Given the description of an element on the screen output the (x, y) to click on. 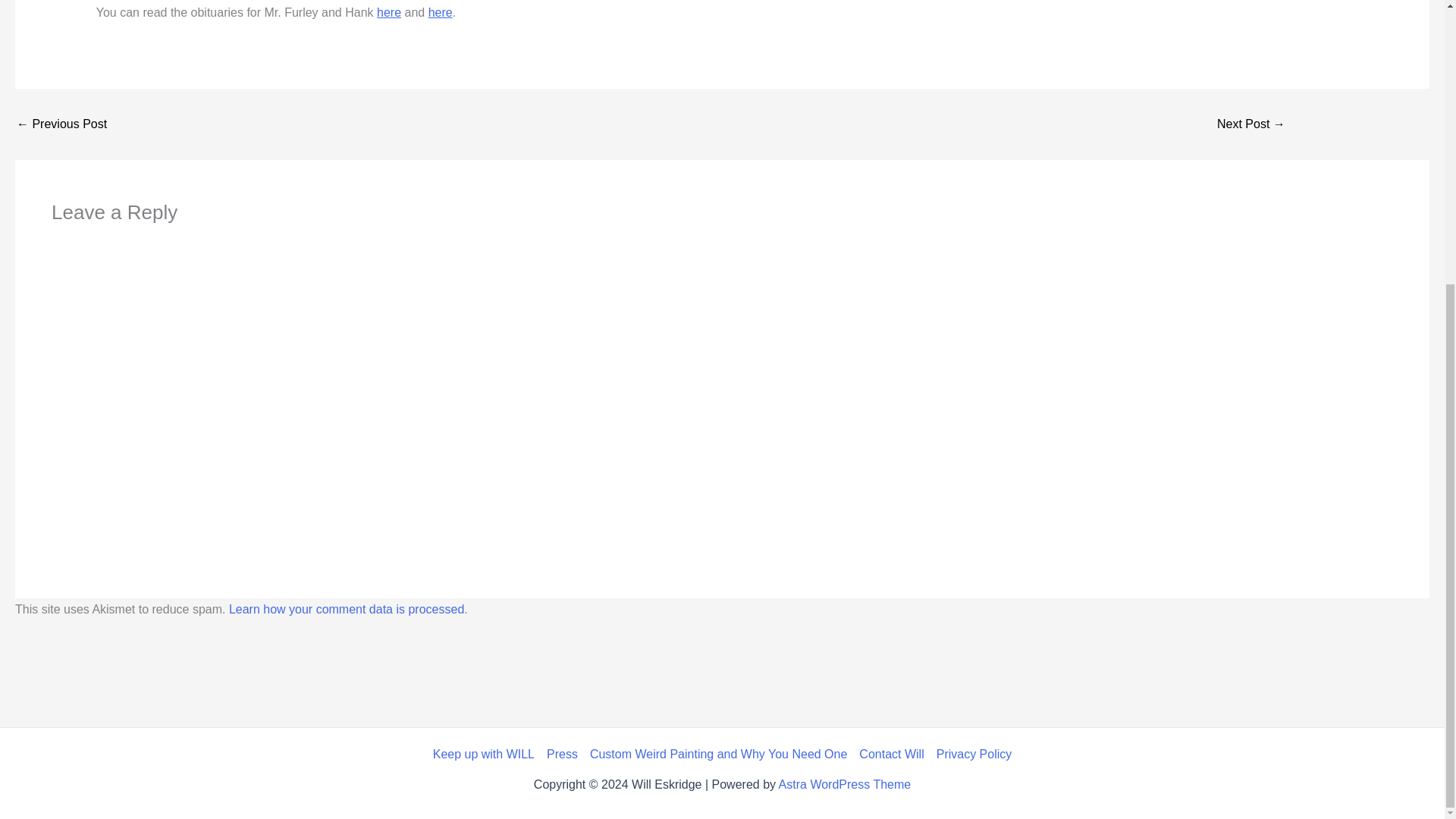
Readin' It Old School, 'Cause I'm An Old Fool (61, 123)
Contact Will (891, 753)
Two Years (1251, 123)
Custom Weird Painting and Why You Need One (718, 753)
Learn how your comment data is processed (346, 608)
here (389, 11)
here (440, 11)
Press (561, 753)
Keep up with WILL (486, 753)
